Given the description of an element on the screen output the (x, y) to click on. 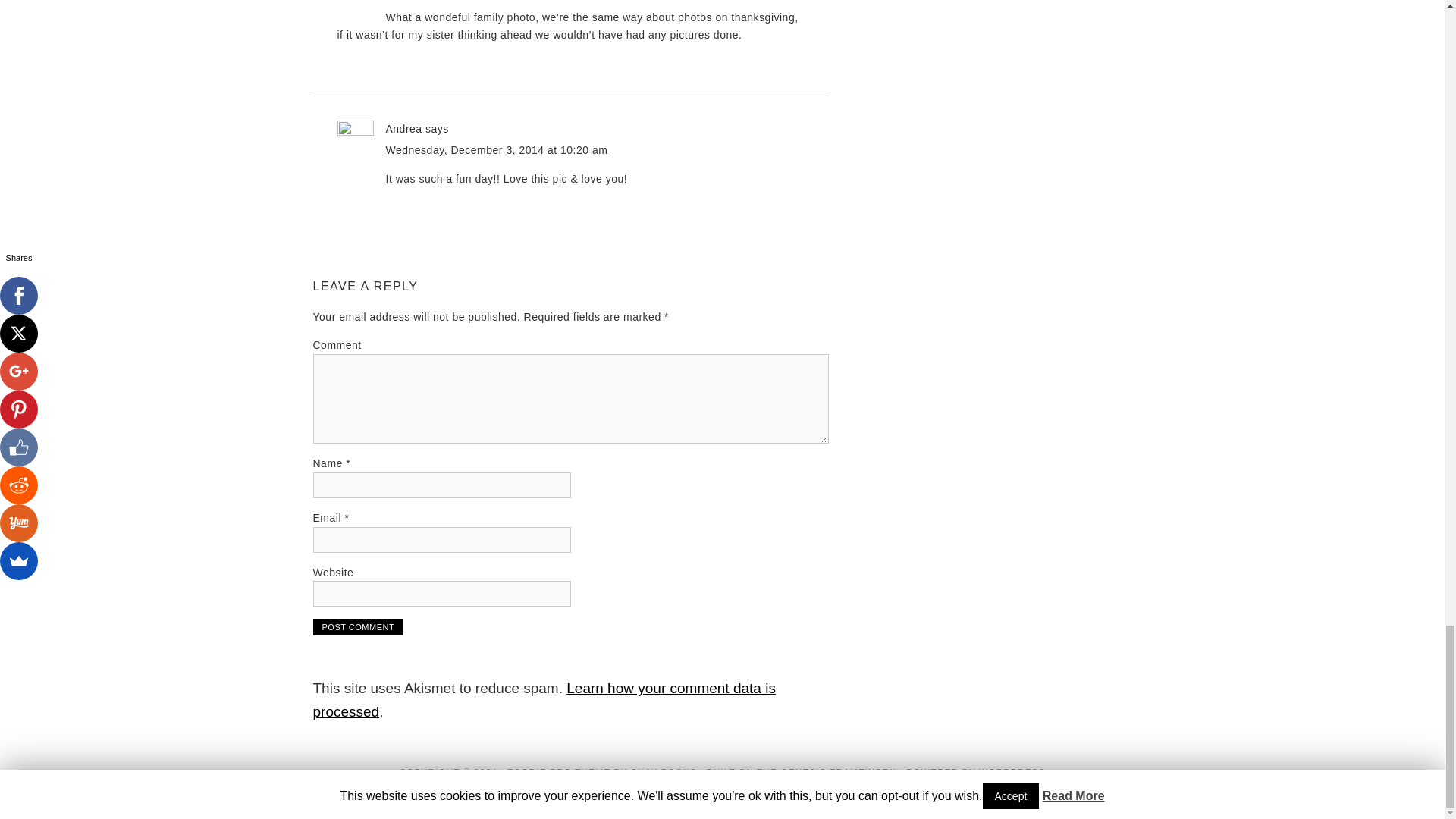
Post Comment (358, 627)
